Given the description of an element on the screen output the (x, y) to click on. 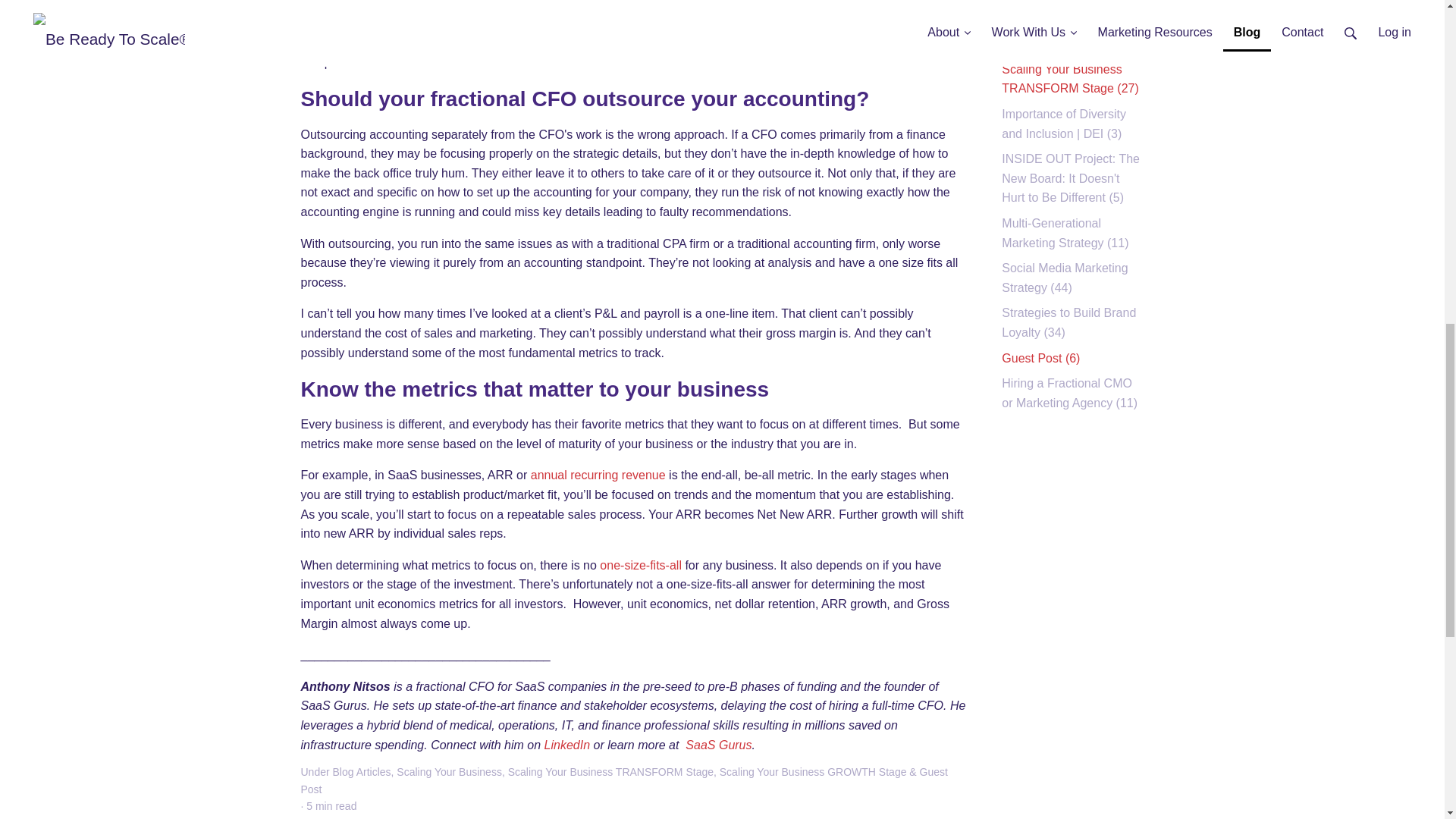
Guest Post (623, 779)
annual recurring revenue (598, 474)
one-size-fits-all (640, 564)
LinkedIn (567, 744)
Scaling Your Business TRANSFORM Stage (610, 771)
fractional (588, 42)
Scaling Your Business GROWTH Stage (813, 771)
Blog Articles (362, 771)
Scaling Your Business (449, 771)
SaaS Gurus (718, 744)
